Given the description of an element on the screen output the (x, y) to click on. 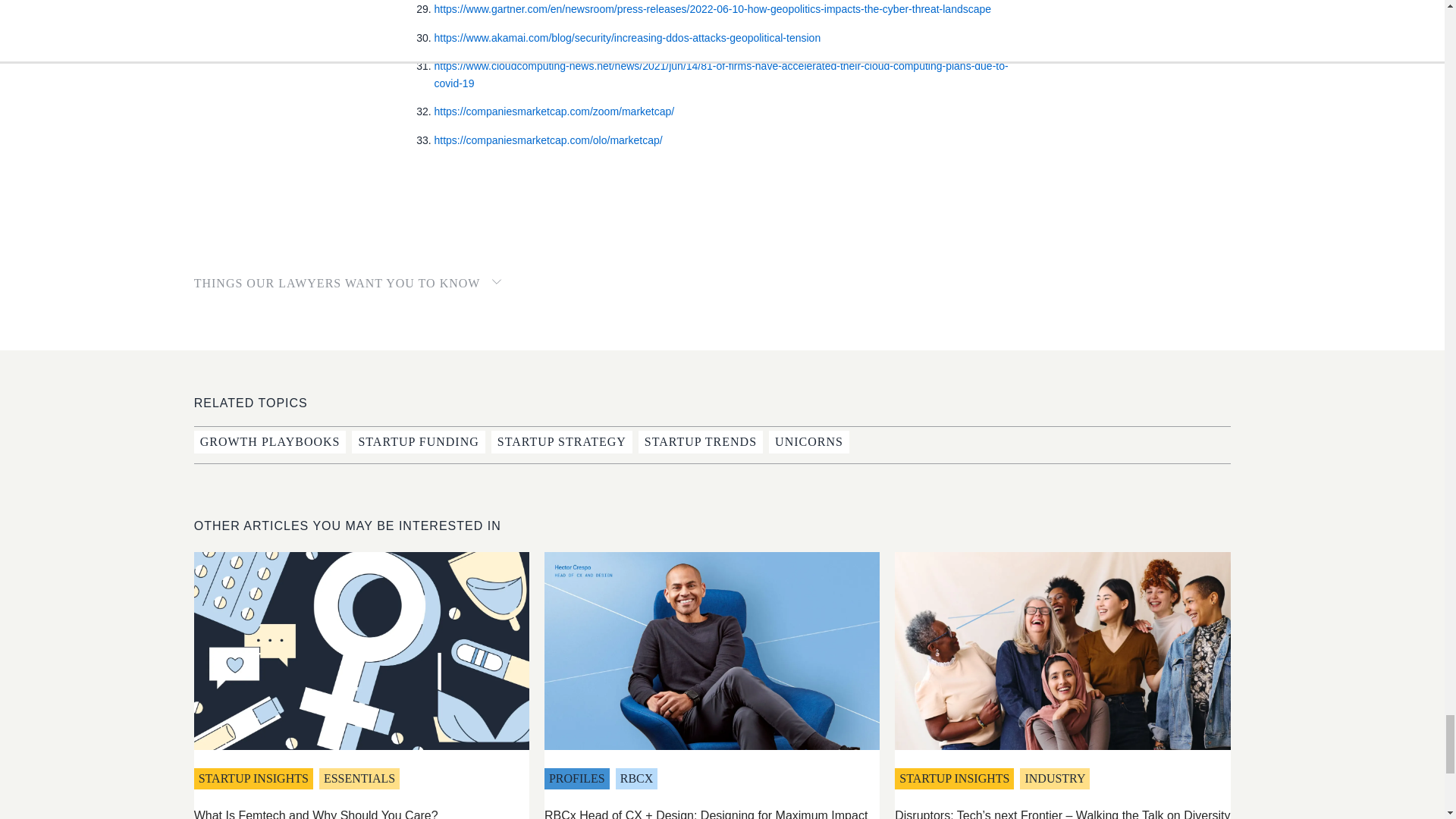
Enlarge photo (711, 650)
Enlarge photo (1062, 650)
Enlarge photo (361, 650)
